Given the description of an element on the screen output the (x, y) to click on. 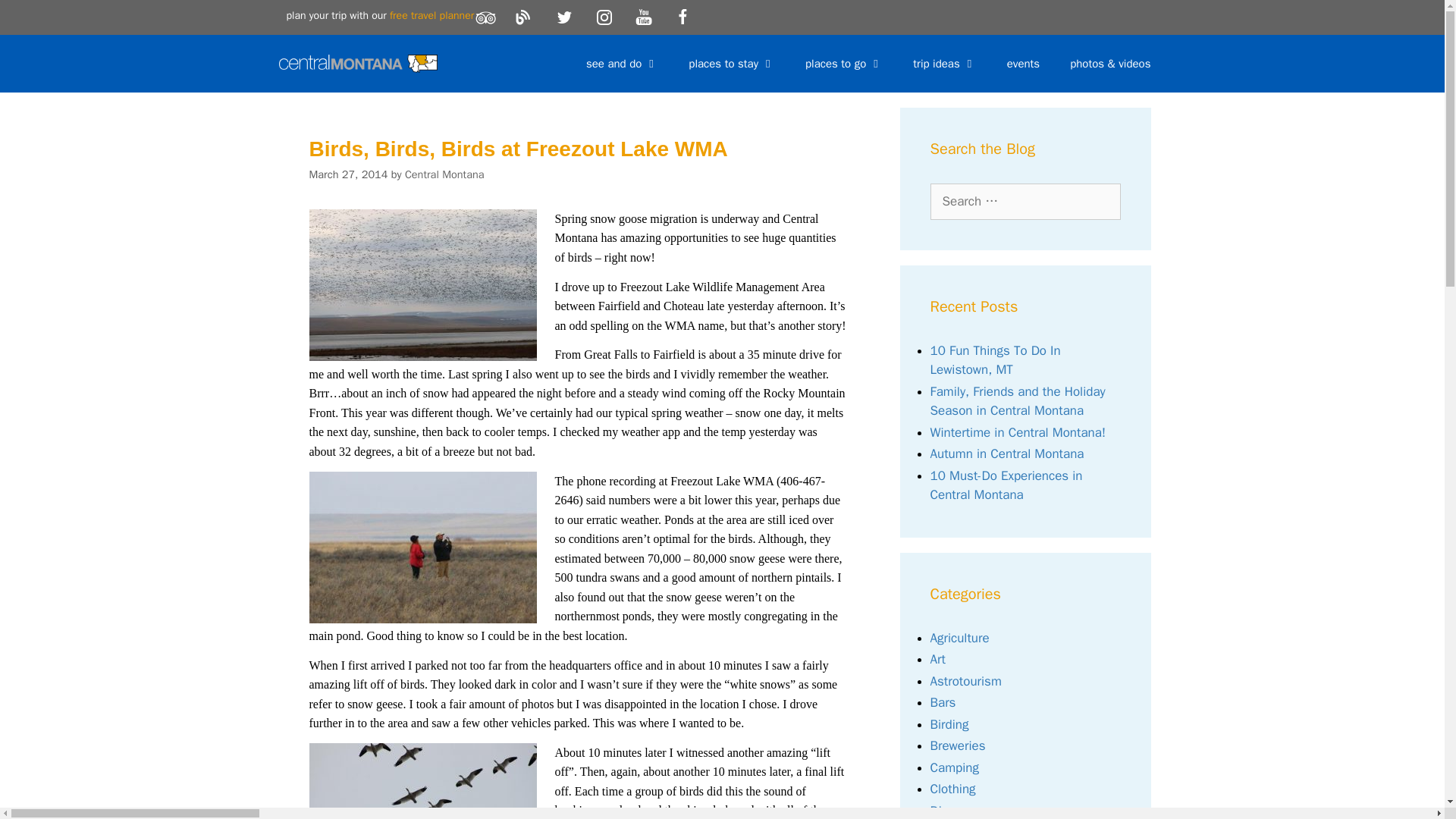
Order Travel Planner (432, 15)
YouTube (643, 17)
TripAdvisor (485, 17)
Blog (525, 17)
Central Montana (358, 63)
Search for: (1024, 201)
Facebook (683, 17)
Instagram (603, 17)
see and do (621, 63)
Twitter (564, 17)
Central Montana (362, 63)
free travel planner (432, 15)
View all posts by Central Montana (444, 173)
